Given the description of an element on the screen output the (x, y) to click on. 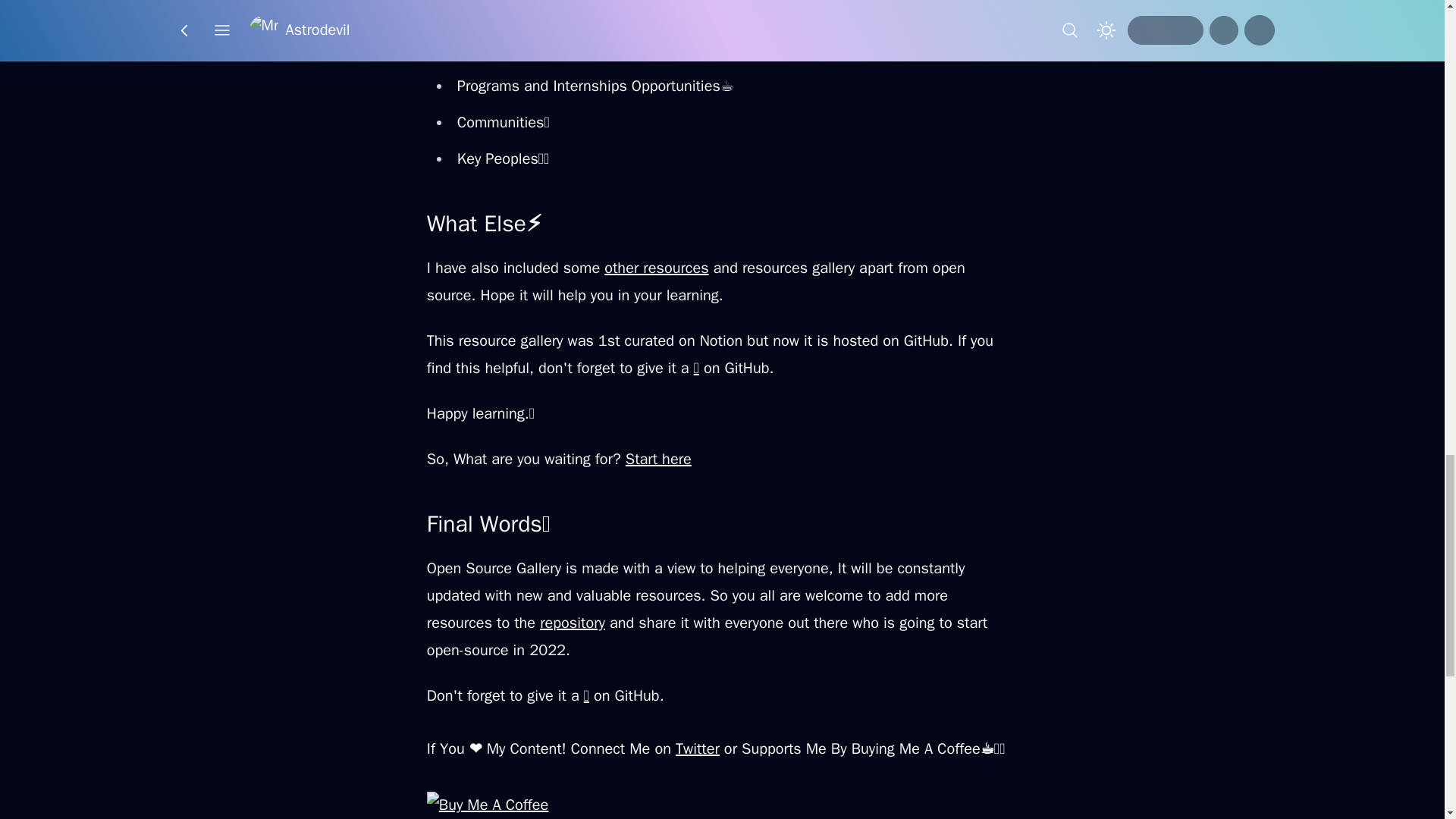
repository (572, 622)
Start here (658, 458)
Twitter (697, 748)
other resources (655, 267)
